Given the description of an element on the screen output the (x, y) to click on. 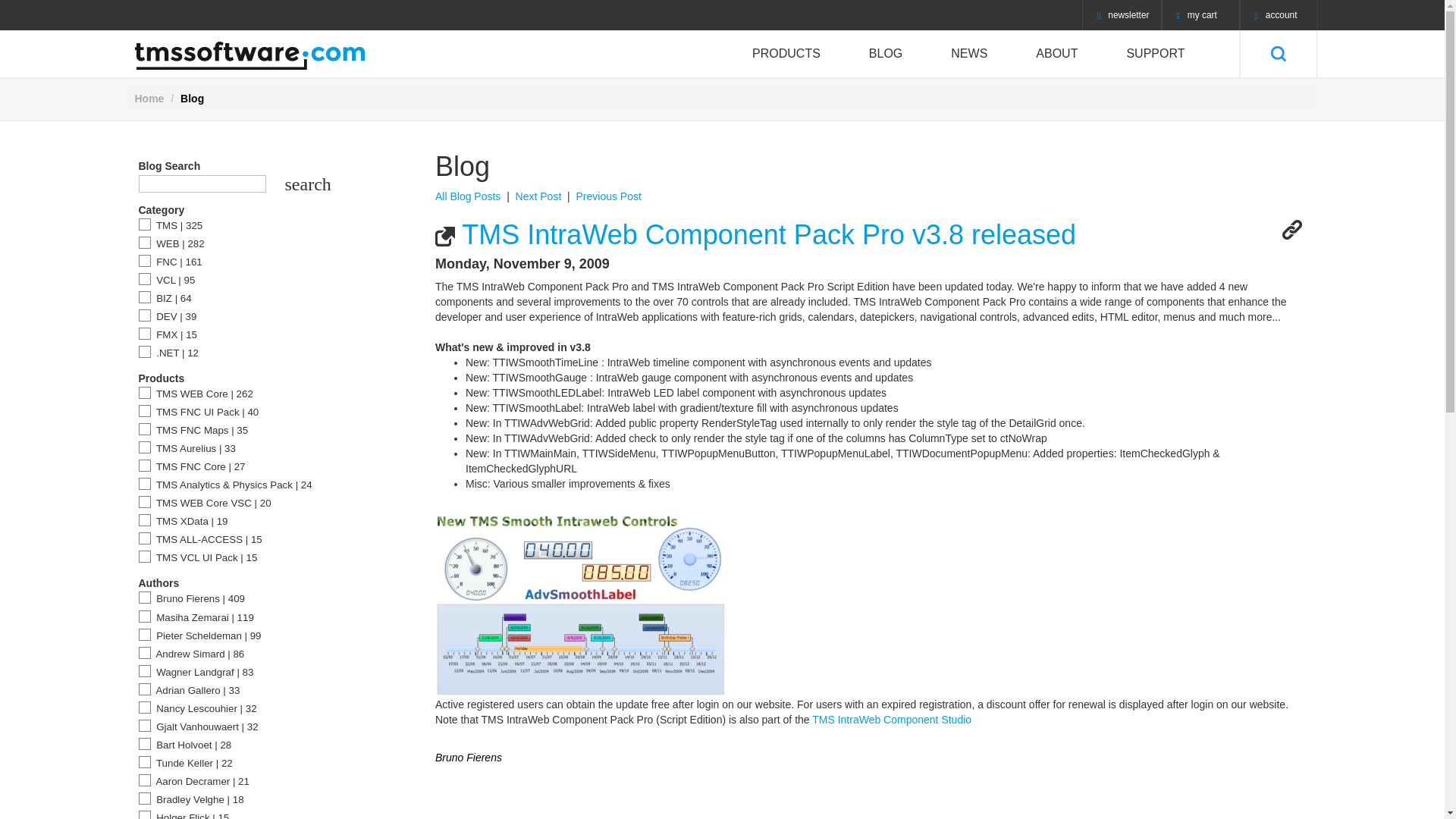
View account information (1278, 15)
Search (1277, 53)
Direct Link (1291, 229)
my cart (1200, 15)
PRODUCTS (786, 53)
BLOG (885, 53)
newsletter (1121, 15)
View your cart (1200, 15)
account (1278, 15)
ABOUT (1056, 53)
NEWS (968, 53)
Subscribe to the TMS newsletter (1121, 15)
SUPPORT (1155, 53)
